Given the description of an element on the screen output the (x, y) to click on. 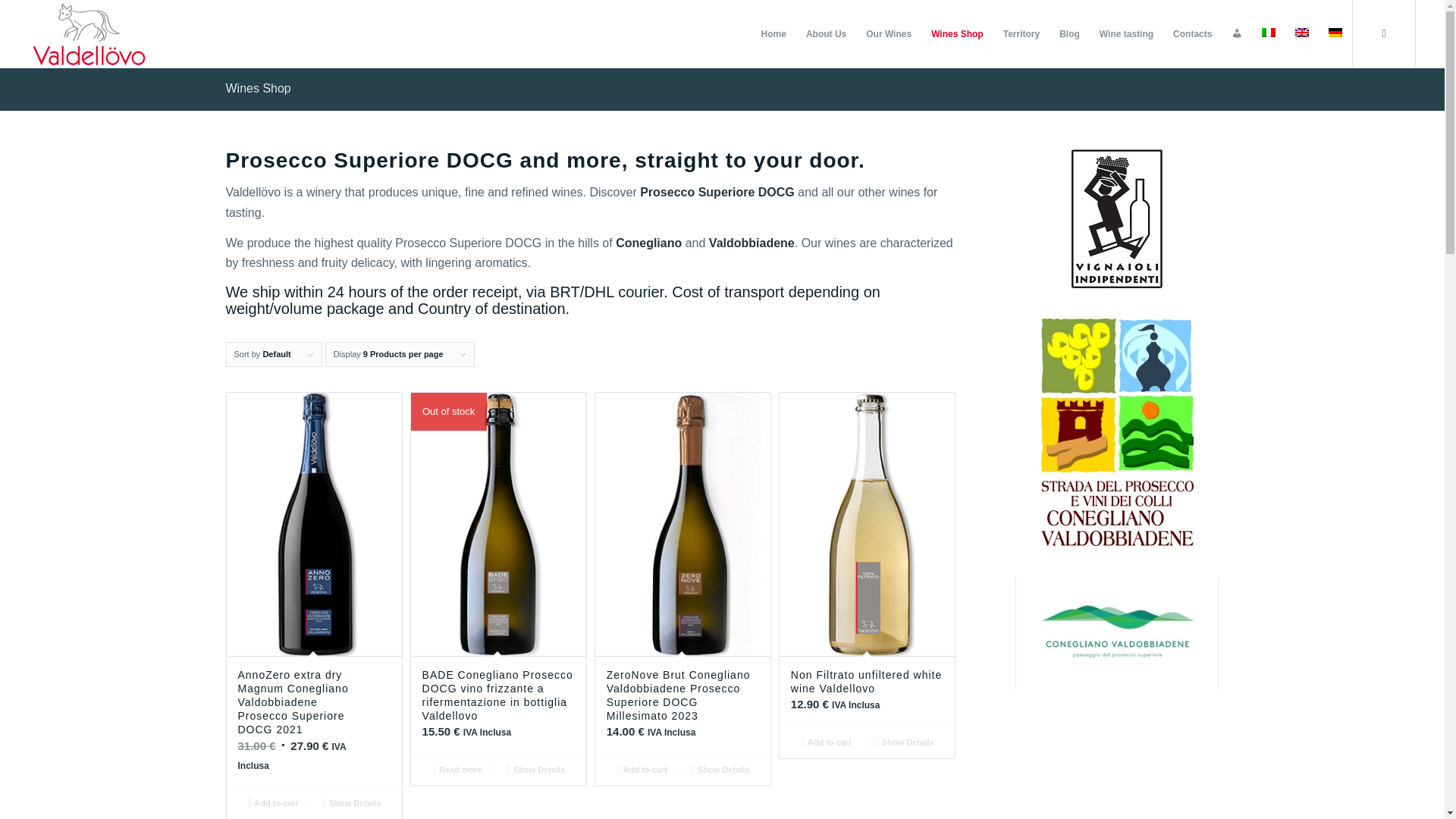
Add to cart (272, 802)
Deutsch (1334, 31)
Permanent Link: Wines Shop (258, 88)
Italiano (1268, 31)
Wines Shop (956, 33)
Add to cart (826, 742)
English (1301, 31)
Show Details (720, 769)
Show Details (535, 769)
Wine tasting (1126, 33)
Show Details (352, 802)
Read more (458, 769)
Add to cart (641, 769)
prosecco-logo-unesco (1117, 633)
Our Wines (888, 33)
